Given the description of an element on the screen output the (x, y) to click on. 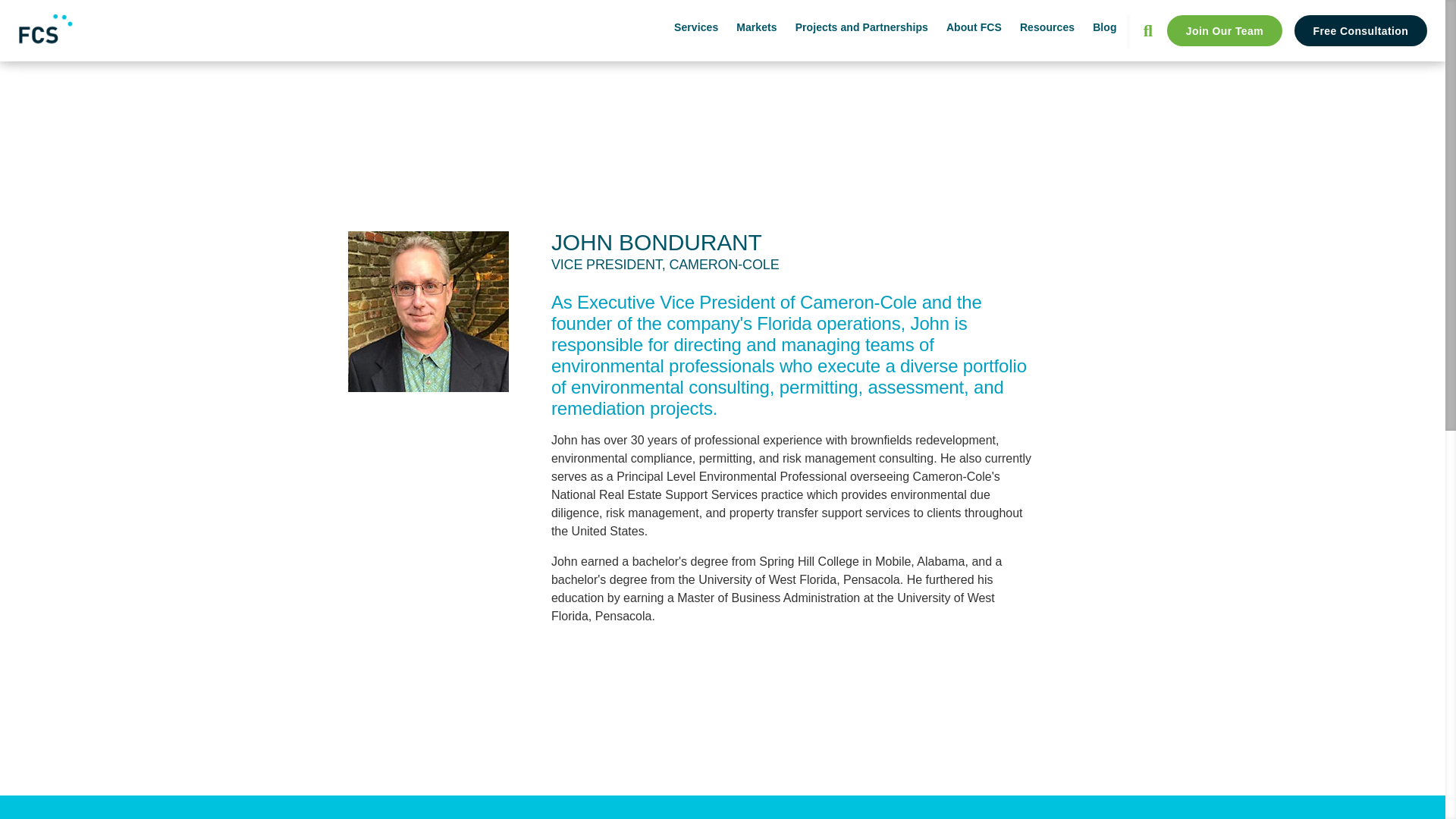
About FCS (973, 27)
Projects and Partnerships (861, 27)
Services (695, 27)
Markets (756, 27)
Resources (1047, 27)
